Given the description of an element on the screen output the (x, y) to click on. 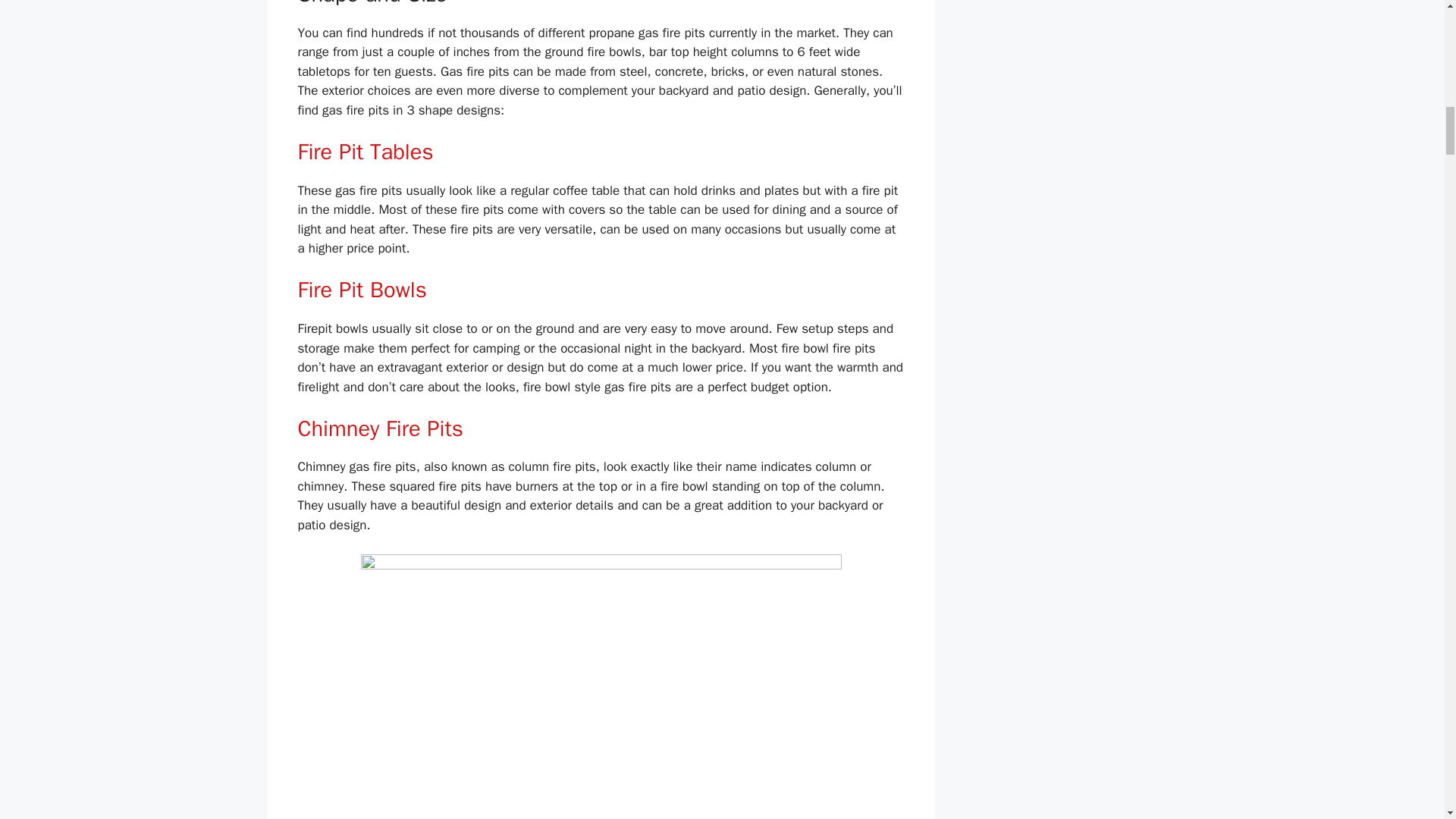
Fire Pit Tables (364, 152)
Fire Pit Bowls (361, 289)
Chimney Fire Pits (380, 428)
